Given the description of an element on the screen output the (x, y) to click on. 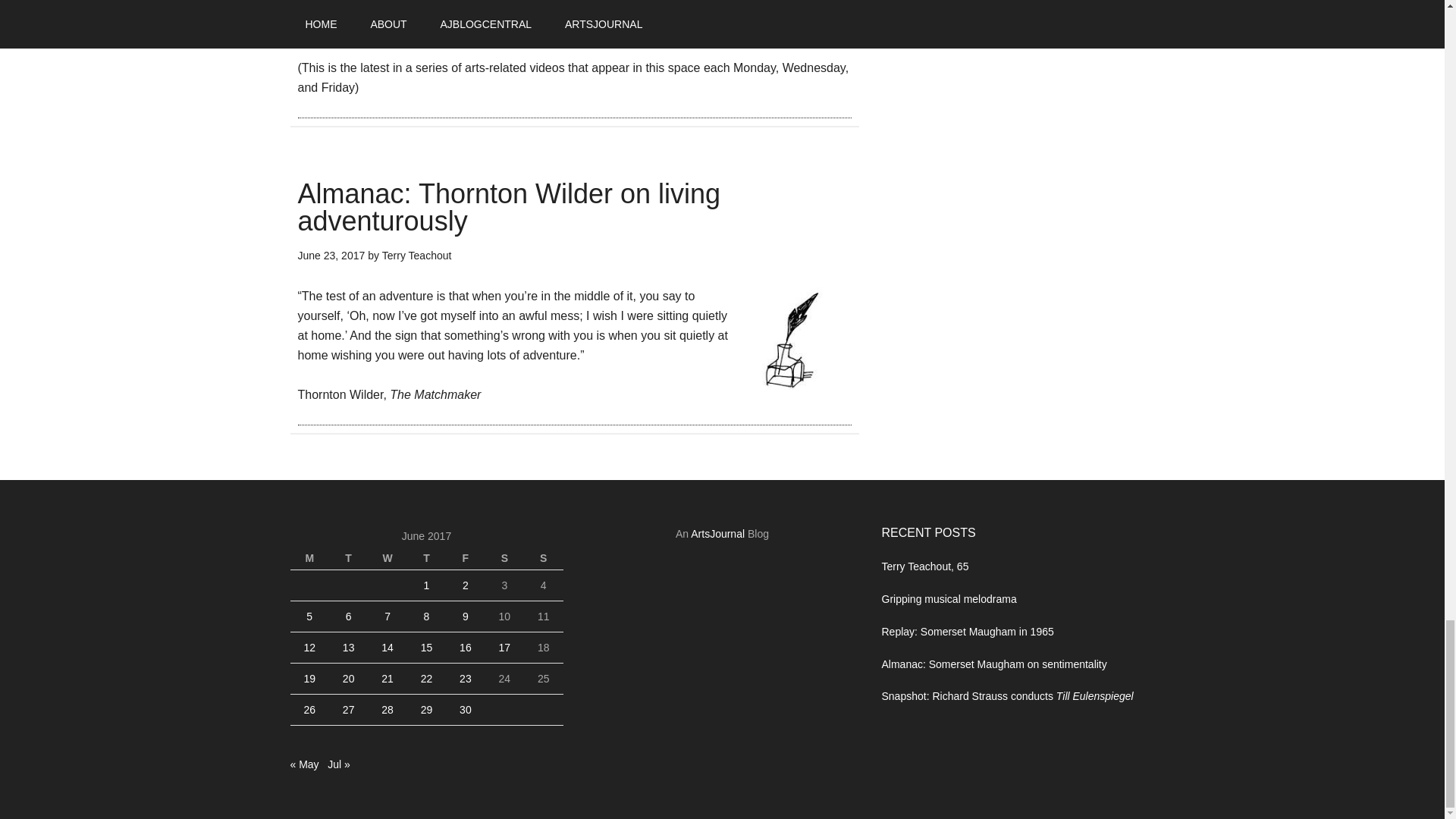
Tuesday (348, 558)
Almanac: Thornton Wilder on living adventurously (508, 206)
Wednesday (387, 558)
Terry Teachout (416, 254)
Monday (309, 558)
